Given the description of an element on the screen output the (x, y) to click on. 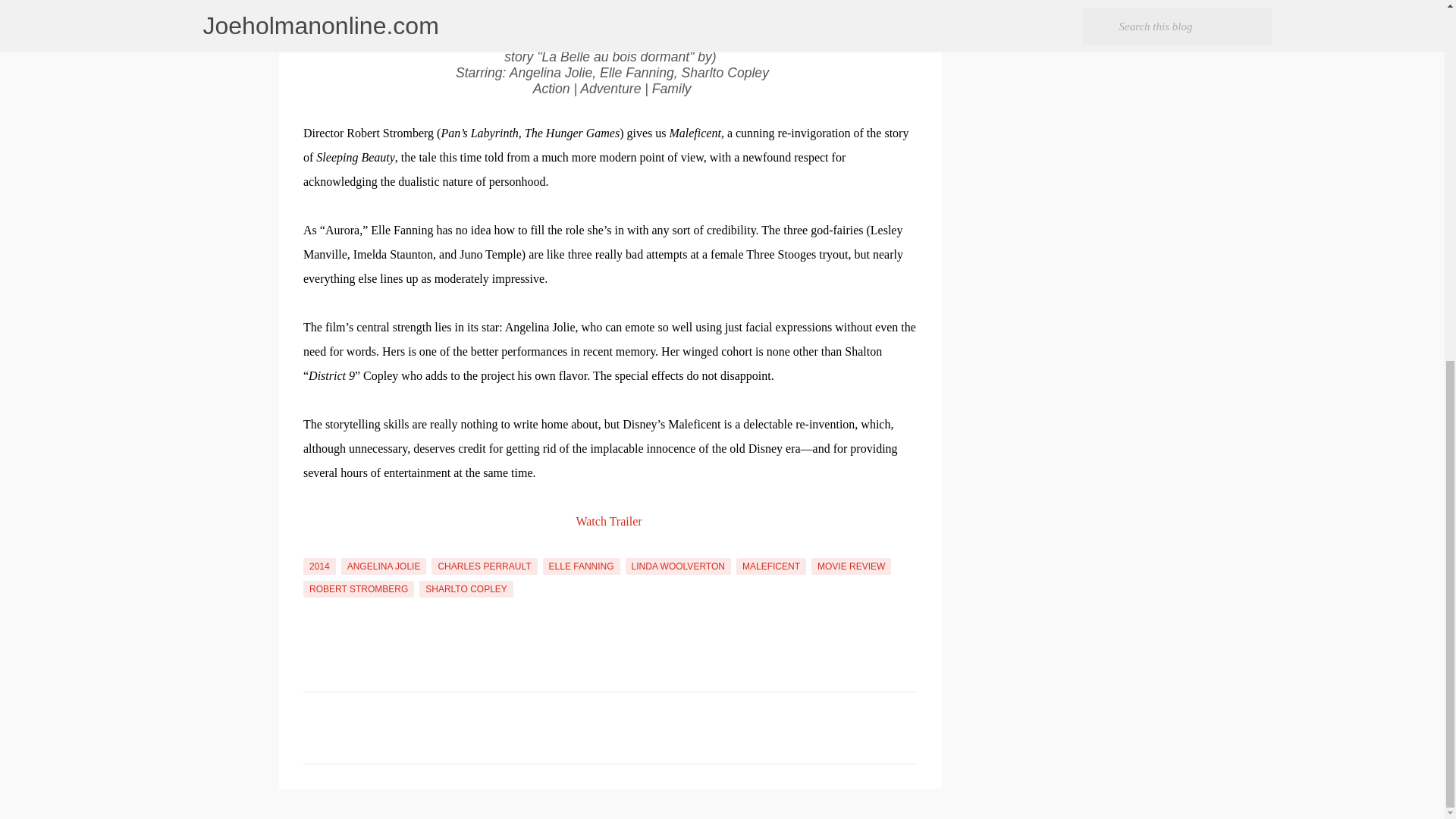
MOVIE REVIEW (850, 565)
2014 (319, 565)
Watch Trailer (608, 521)
ROBERT STROMBERG (357, 588)
ELLE FANNING (581, 565)
Email Post (311, 548)
MALEFICENT (771, 565)
LINDA WOOLVERTON (678, 565)
ANGELINA JOLIE (383, 565)
CHARLES PERRAULT (483, 565)
